Given the description of an element on the screen output the (x, y) to click on. 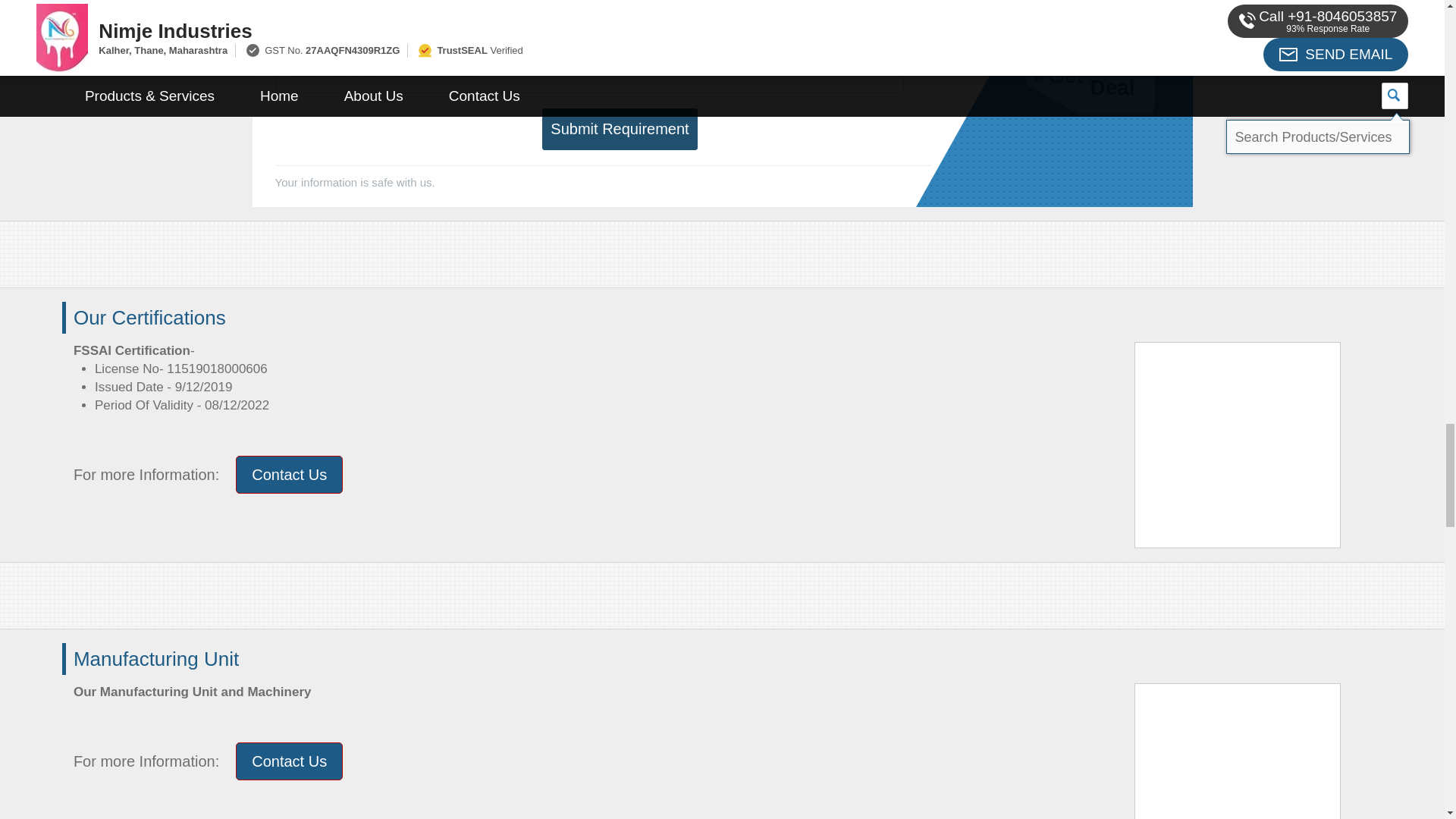
Submit Requirement (619, 128)
Submit Requirement (619, 128)
Enter your name: (748, 18)
Enter your number: (430, 18)
